Given the description of an element on the screen output the (x, y) to click on. 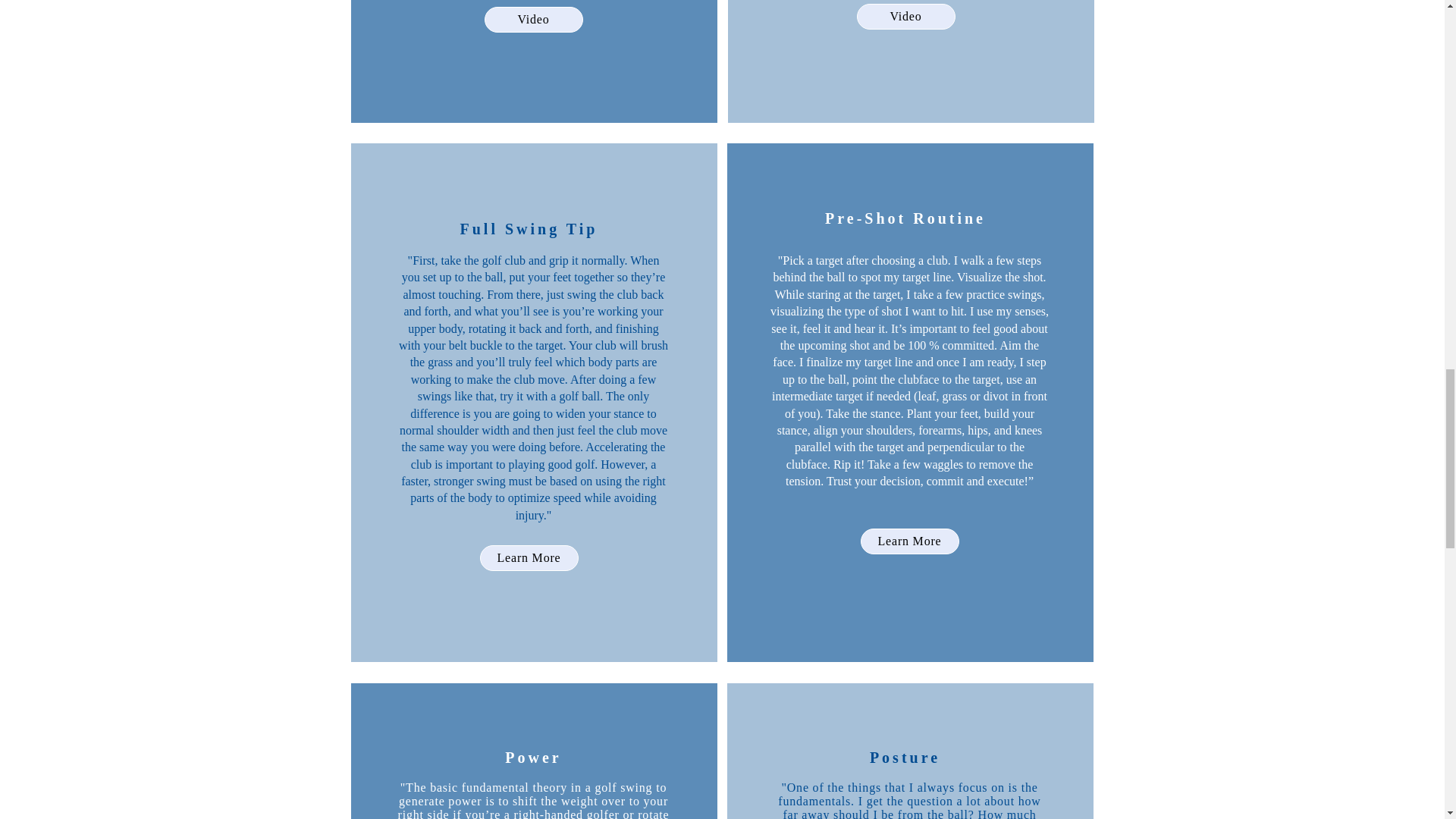
Video (906, 16)
Learn More (909, 541)
Video (532, 19)
Learn More (528, 557)
